Given the description of an element on the screen output the (x, y) to click on. 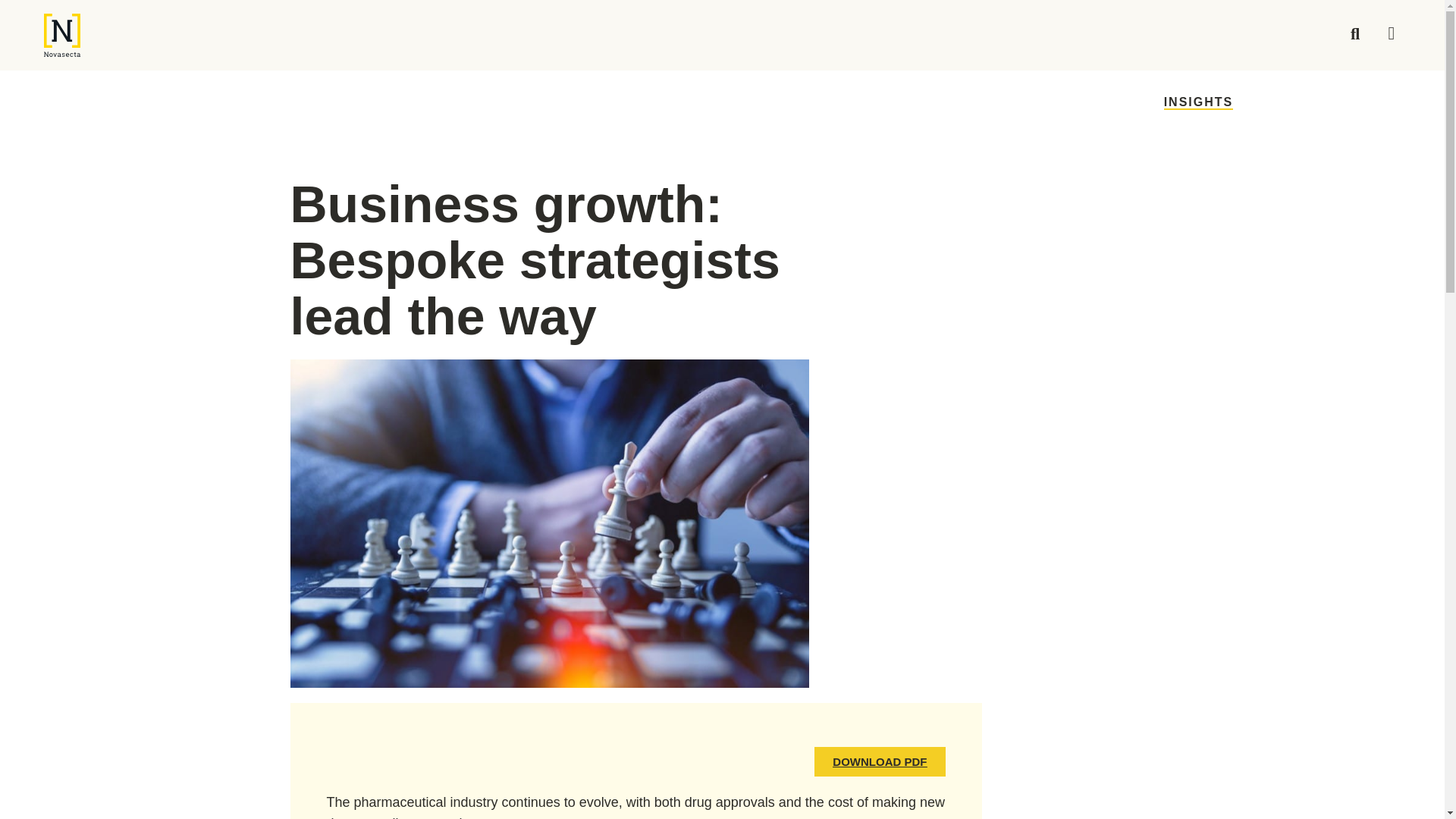
DOWNLOAD PDF (878, 761)
INSIGHTS (1198, 101)
